Given the description of an element on the screen output the (x, y) to click on. 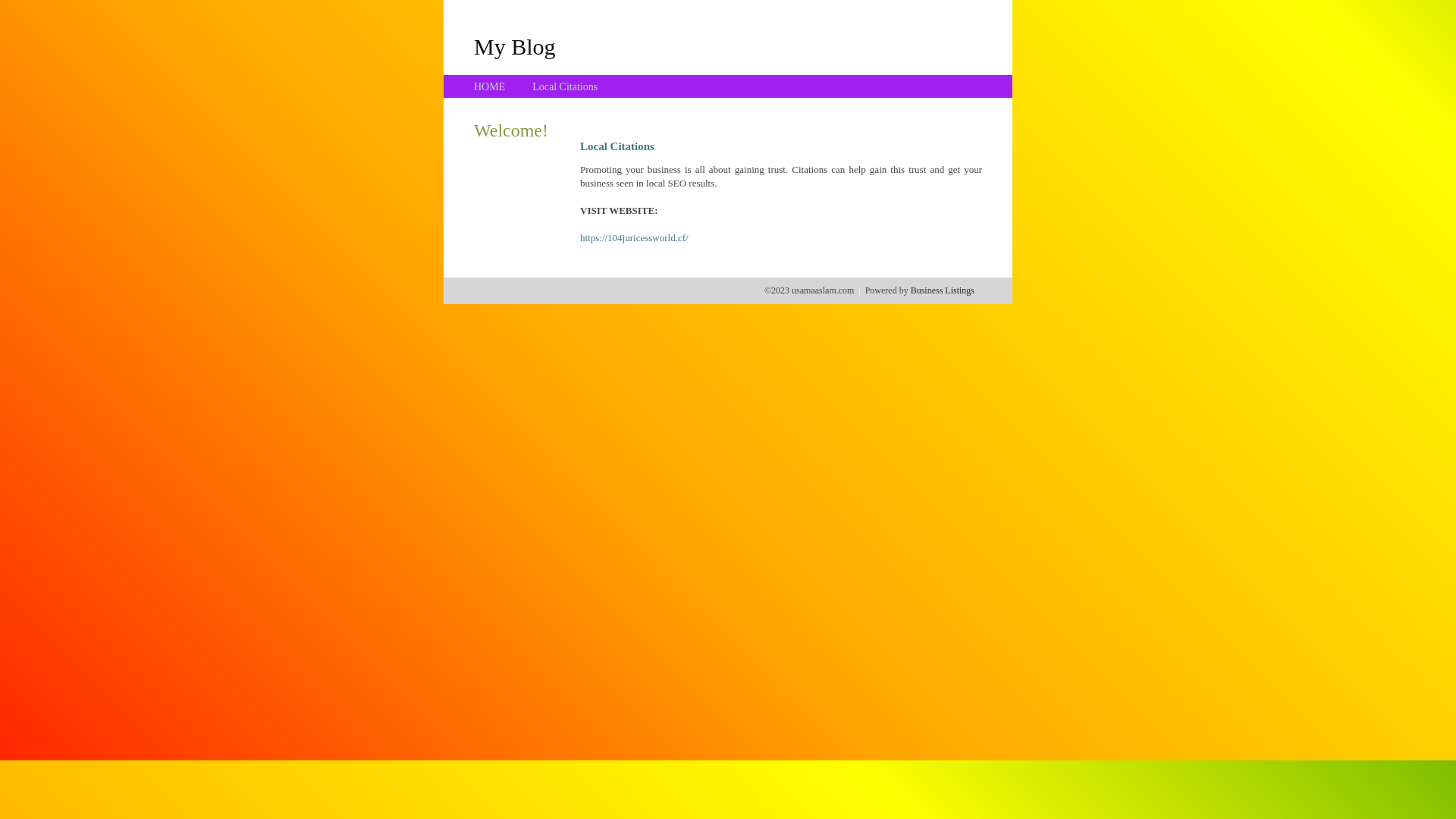
My Blog Element type: text (514, 46)
Business Listings Element type: text (942, 290)
HOME Element type: text (489, 86)
Local Citations Element type: text (564, 86)
https://104juricessworld.cf/ Element type: text (634, 237)
